Given the description of an element on the screen output the (x, y) to click on. 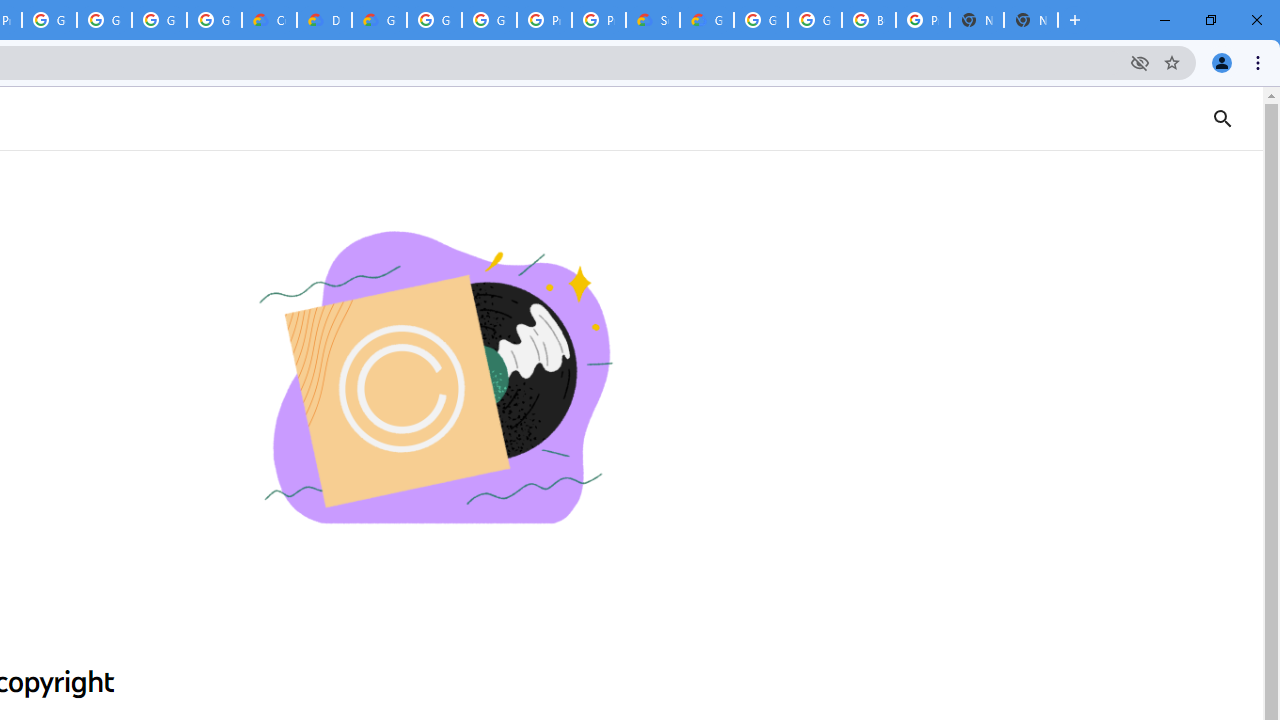
Gemini for Business and Developers | Google Cloud (379, 20)
Google Cloud Platform (489, 20)
Support Hub | Google Cloud (652, 20)
Google Cloud Platform (815, 20)
New Tab (1030, 20)
